Given the description of an element on the screen output the (x, y) to click on. 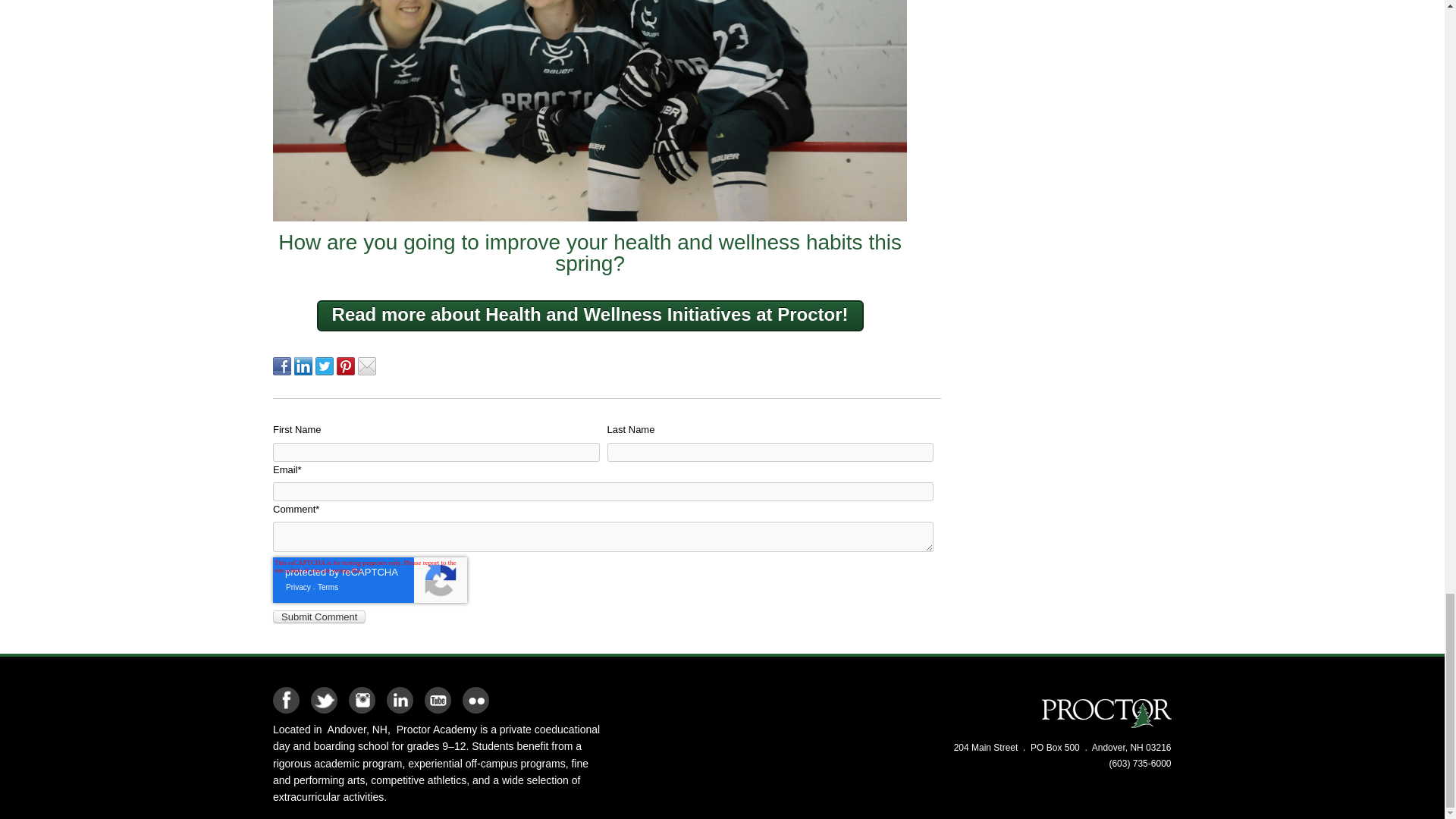
Read more about Health and Wellness Initiatives at Proctor! (590, 315)
Submit Comment (319, 616)
reCAPTCHA (370, 579)
Submit Comment (319, 616)
Read more about Health and Wellness Initiatives at Proctor! (590, 315)
